Given the description of an element on the screen output the (x, y) to click on. 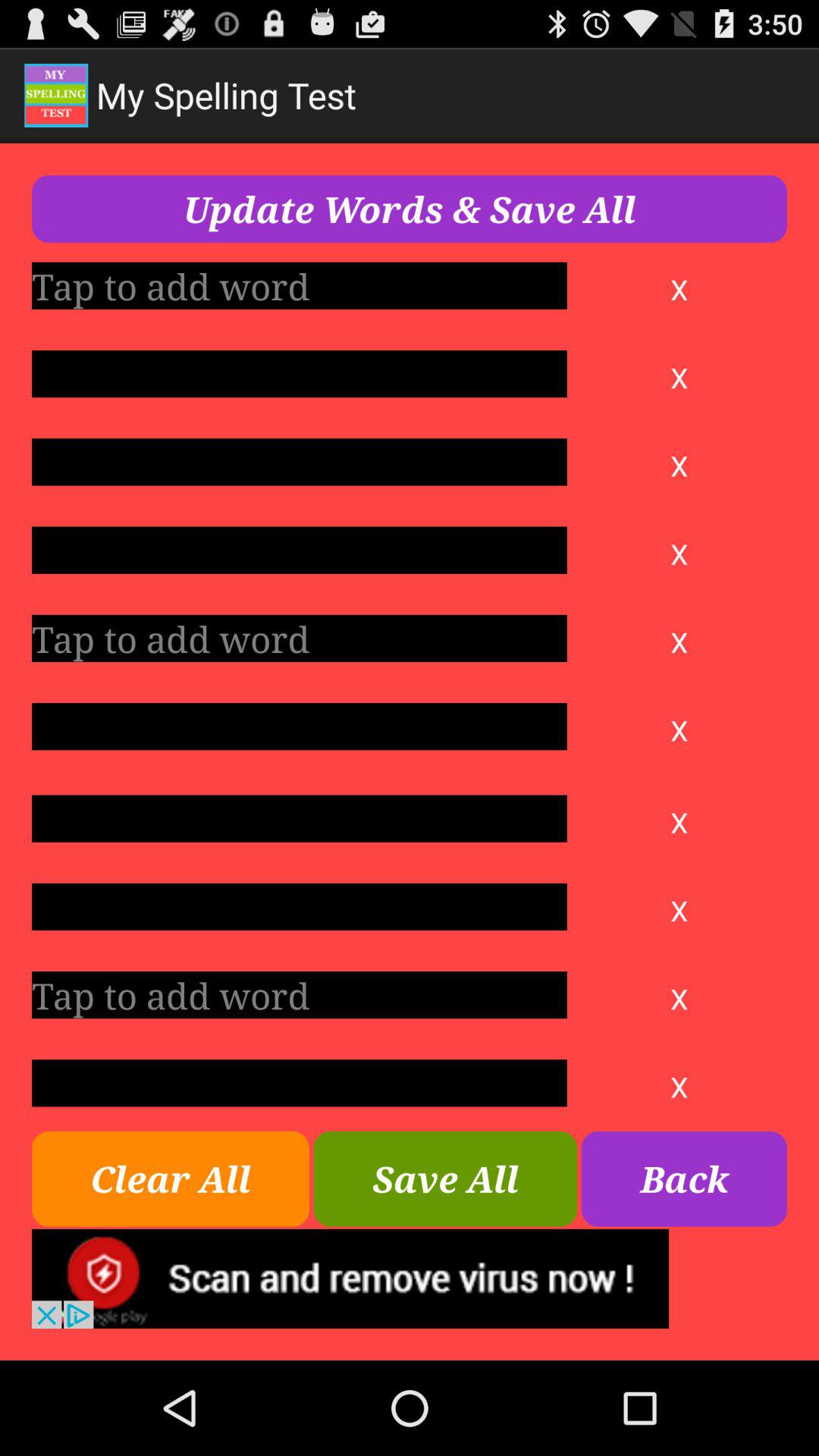
select one box (299, 285)
